Given the description of an element on the screen output the (x, y) to click on. 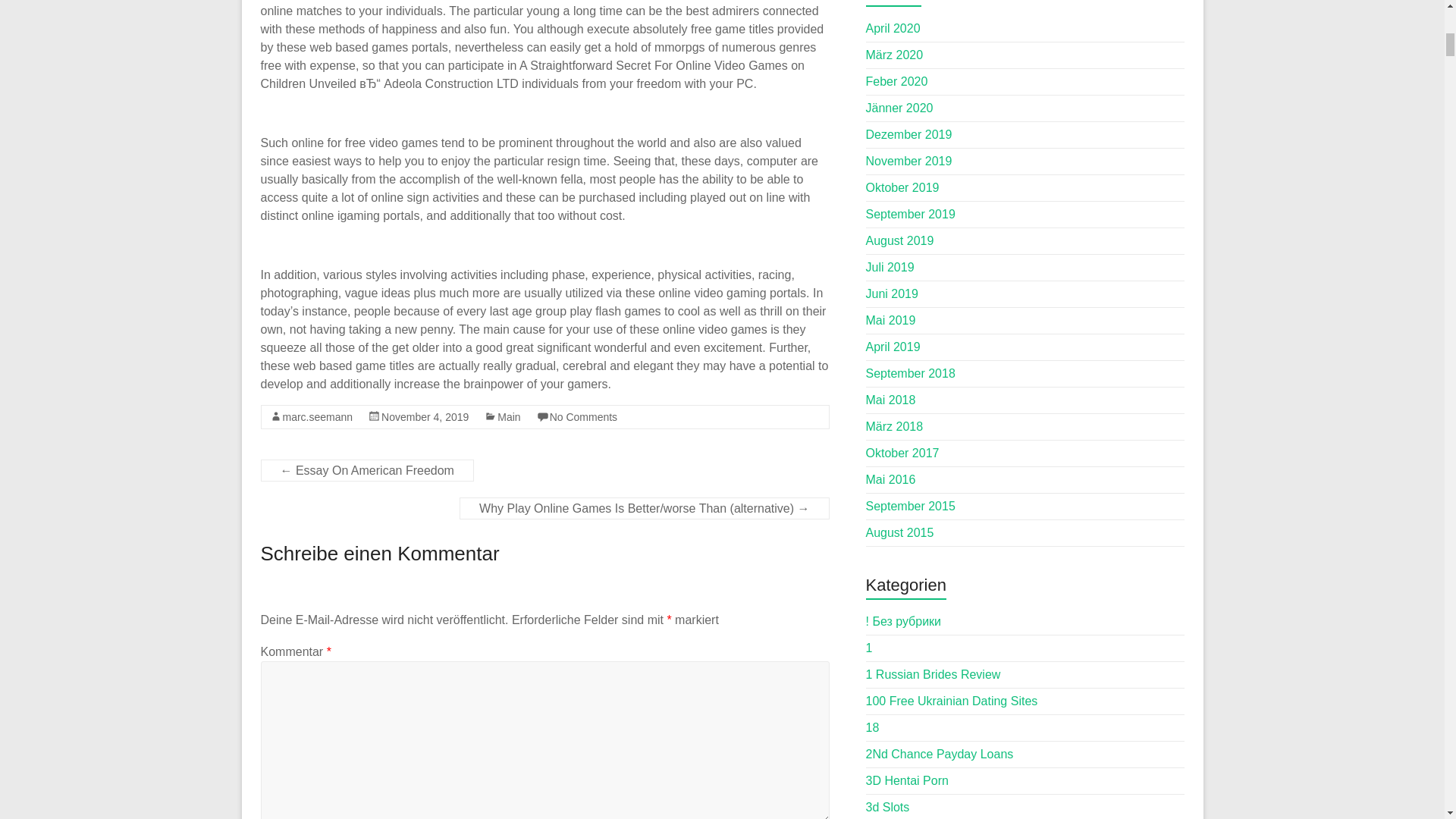
Main (508, 417)
April 2020 (893, 28)
November 4, 2019 (424, 417)
Mai 2018 (890, 399)
August 2019 (900, 240)
Juni 2019 (892, 293)
12:22 am (424, 417)
November 2019 (909, 160)
April 2019 (893, 346)
Feber 2020 (897, 81)
